Given the description of an element on the screen output the (x, y) to click on. 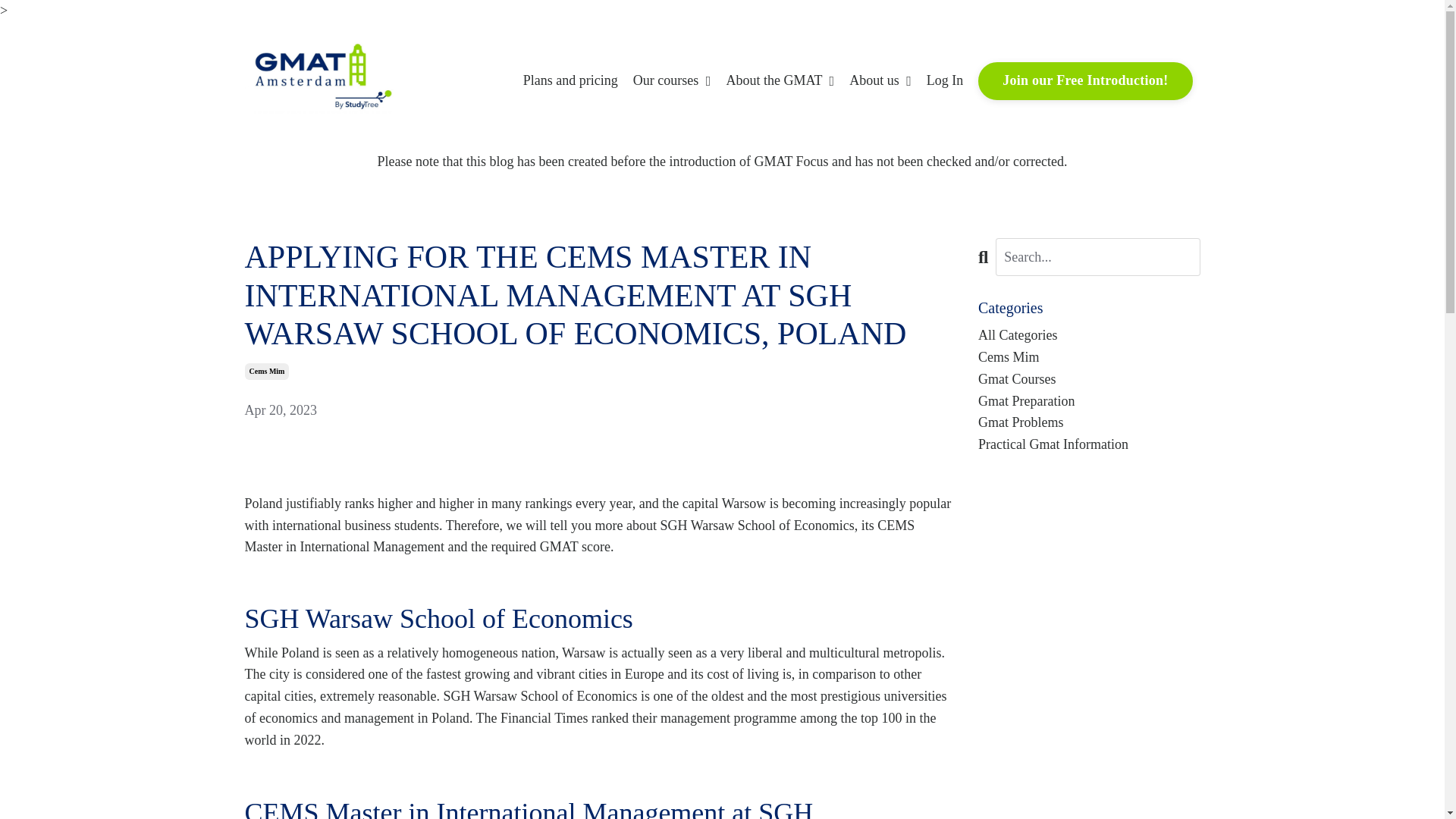
About the GMAT (779, 80)
Practical Gmat Information (1088, 444)
Join our Free Introduction! (1085, 80)
All Categories (1088, 335)
About us (879, 80)
Gmat Courses (1088, 379)
Cems Mim (266, 371)
Cems Mim (1088, 357)
Gmat Problems (1088, 422)
Our courses (672, 80)
